Given the description of an element on the screen output the (x, y) to click on. 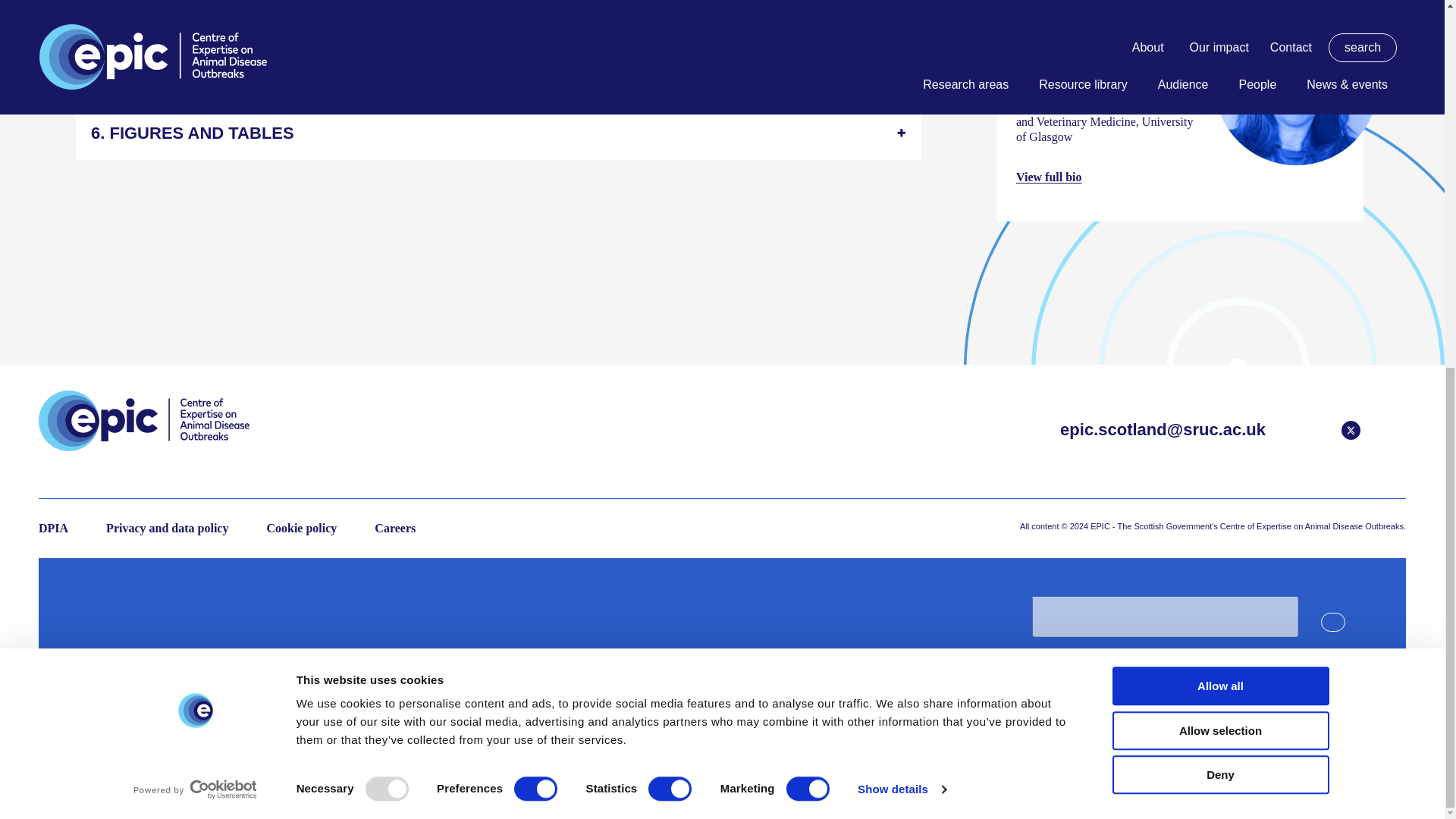
Allow all (1219, 21)
Deny (1219, 109)
Allow selection (1219, 65)
Show details (900, 124)
